Given the description of an element on the screen output the (x, y) to click on. 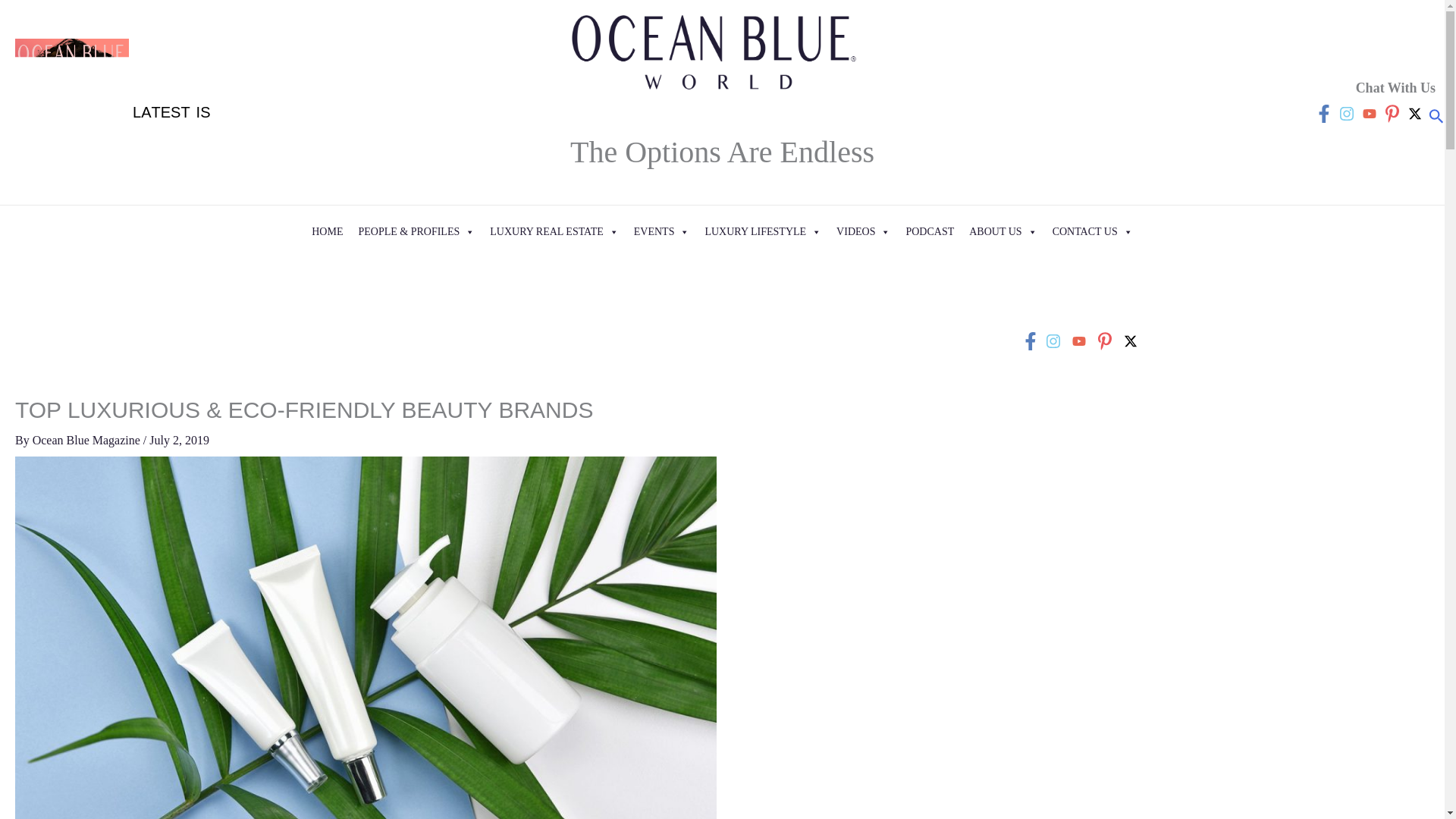
View all posts by Ocean Blue Magazine (87, 440)
LUXURY REAL ESTATE (553, 232)
HOME (327, 232)
LUXURY LIFESTYLE (762, 232)
EVENTS (661, 232)
